Given the description of an element on the screen output the (x, y) to click on. 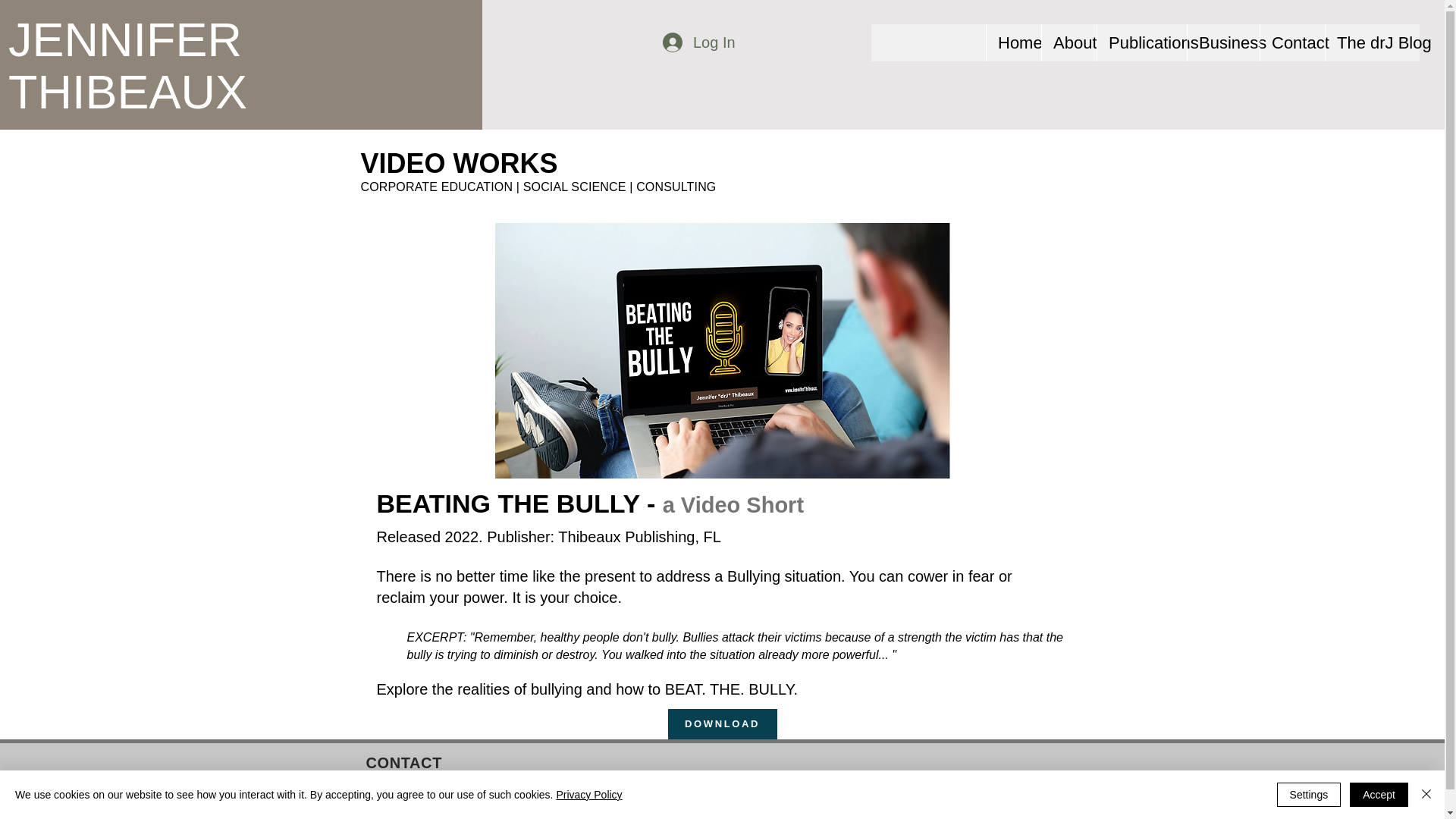
Accept (1378, 794)
Kuronix (531, 817)
Log In (697, 42)
Settings (1308, 794)
Privacy Policy (588, 794)
PRIVACY POLICY (998, 814)
Contact (1291, 42)
The drJ Blog (1371, 42)
JENNIFER THIBEAUX (127, 65)
DOWNLOAD (721, 724)
Home (1013, 42)
